Given the description of an element on the screen output the (x, y) to click on. 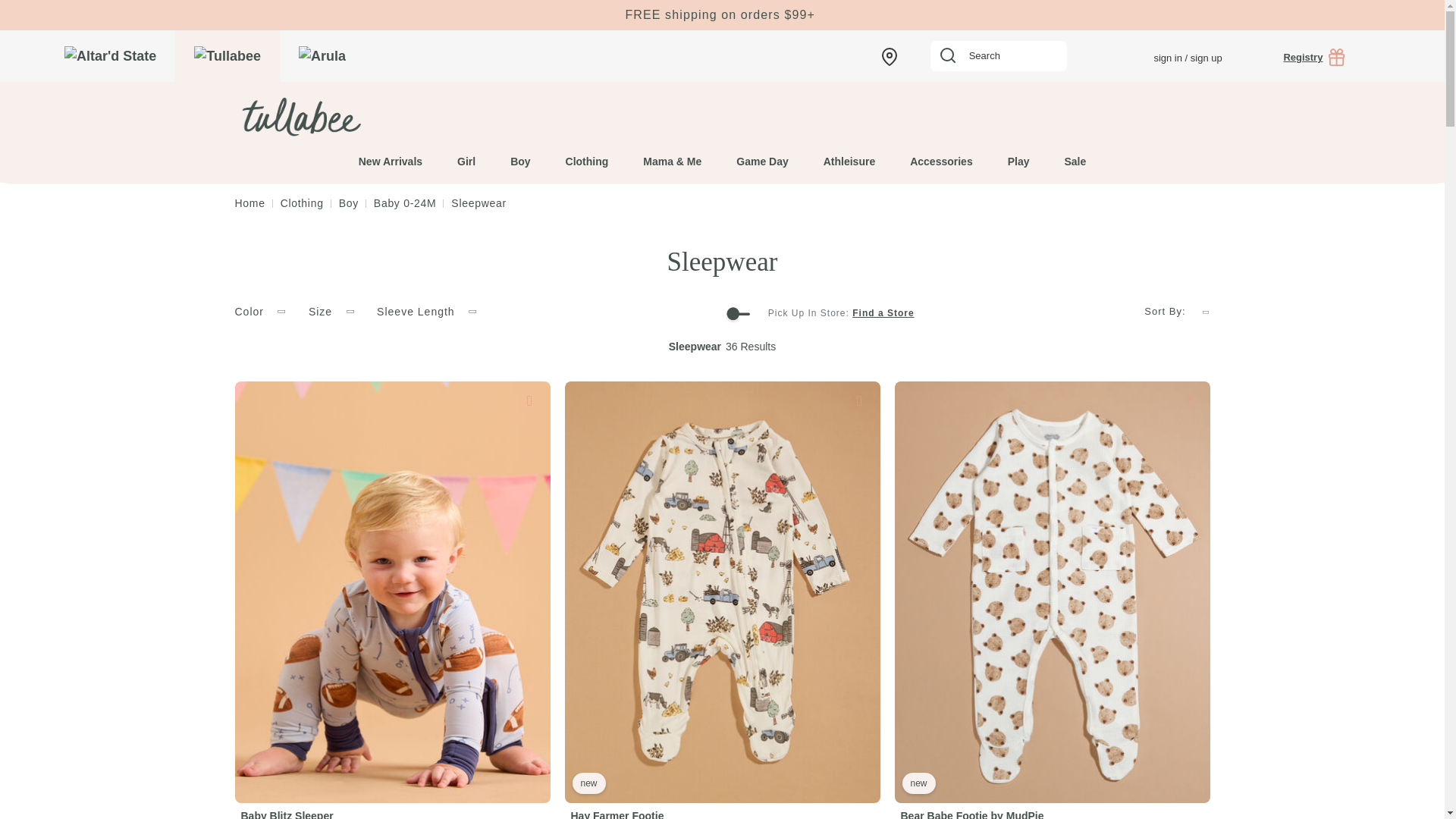
tullabee (350, 116)
Tullabee Logo (299, 116)
Store Locator (889, 55)
Store Locator (889, 55)
Registry (1312, 57)
Search (998, 55)
New Arrivals (722, 15)
New Arrivals (390, 152)
My Favorites (1113, 57)
View Cart (1385, 57)
Registry (1312, 57)
